Given the description of an element on the screen output the (x, y) to click on. 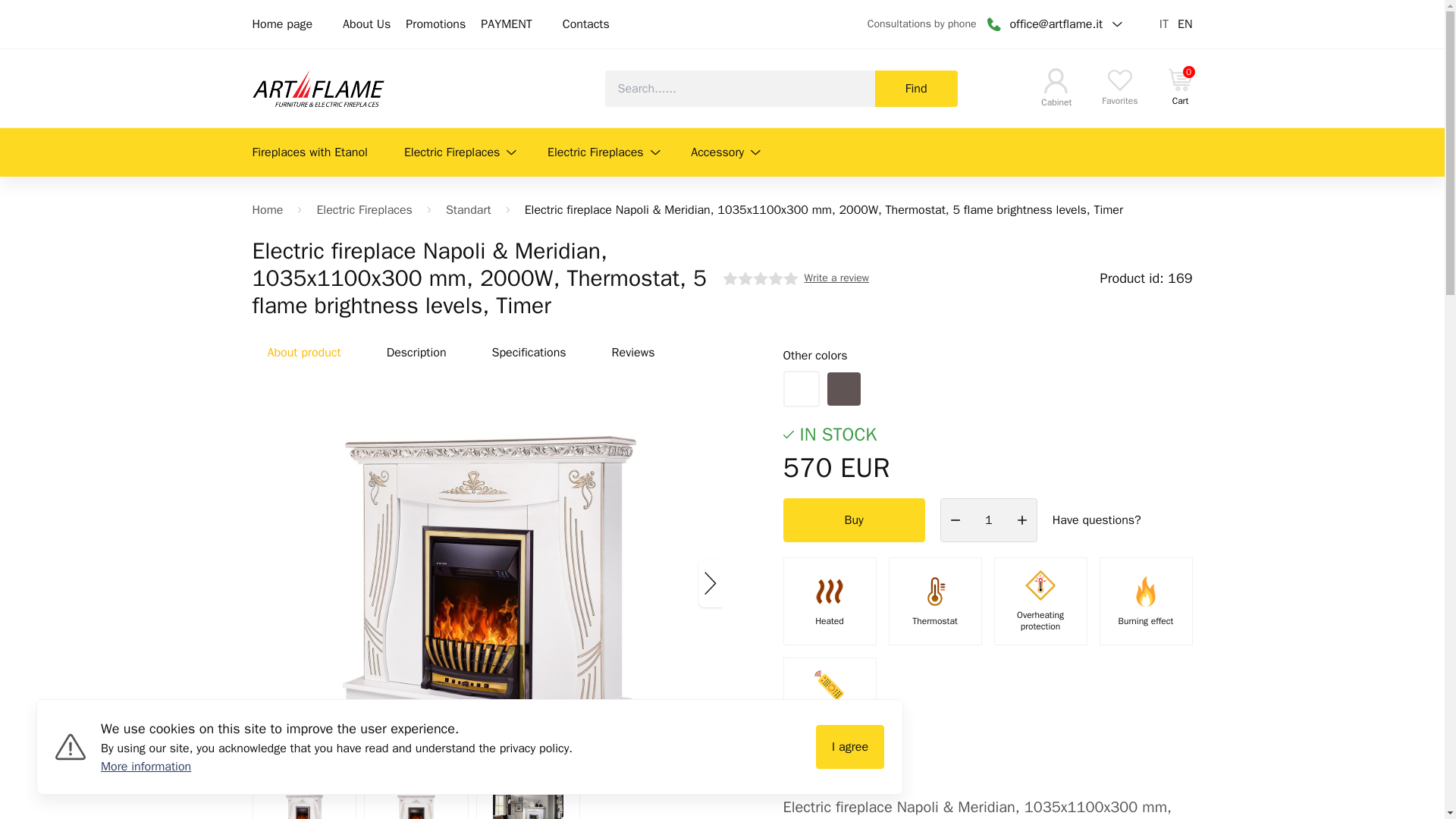
EN (1184, 24)
Electric Fireplaces (460, 151)
Promotions (435, 23)
Home page (282, 23)
Fireplaces with Etanol (311, 151)
Favorites (1119, 88)
PAYMENT (505, 23)
Accessory (725, 151)
About Us (366, 23)
IT (1163, 24)
Contacts (586, 23)
Cabinet (1056, 87)
Electric Fireplaces (1179, 87)
1 (604, 151)
